Given the description of an element on the screen output the (x, y) to click on. 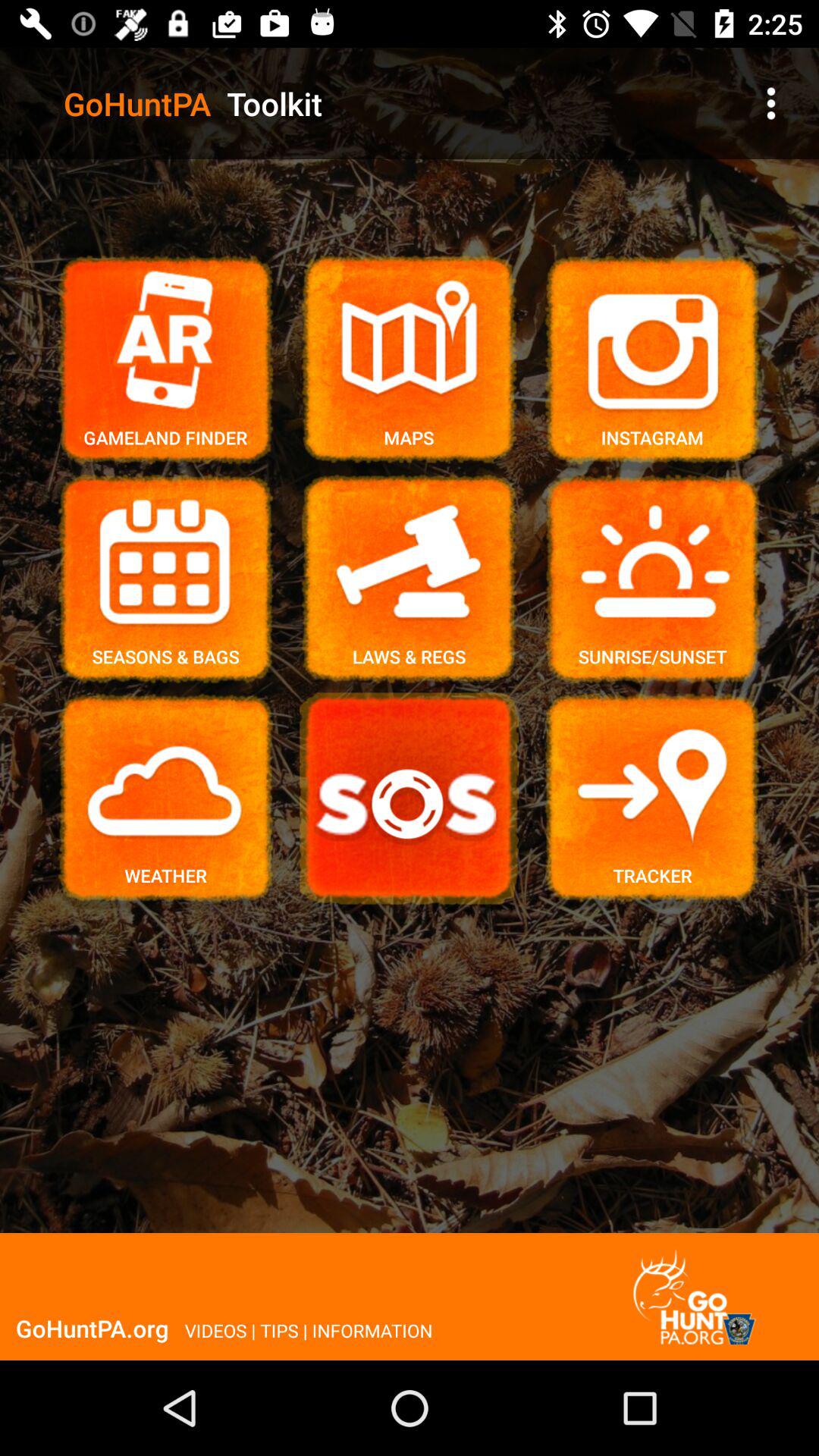
turn on the item to the right of toolkit icon (771, 103)
